Given the description of an element on the screen output the (x, y) to click on. 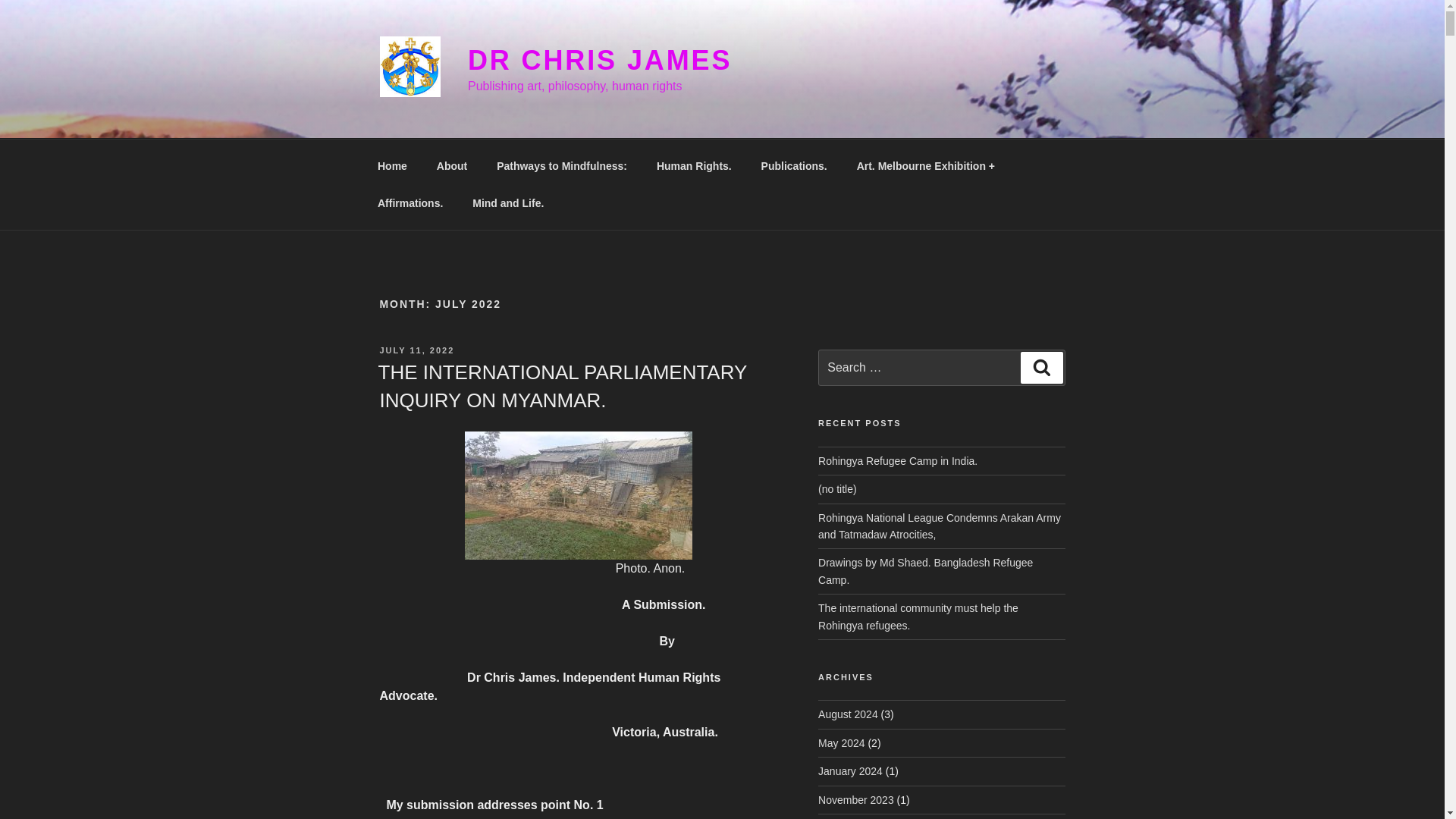
THE INTERNATIONAL PARLIAMENTARY INQUIRY ON MYANMAR. (561, 386)
Affirmations. (409, 203)
JULY 11, 2022 (416, 349)
Mind and Life. (508, 203)
About (451, 165)
Publications. (794, 165)
Human Rights. (693, 165)
Pathways to Mindfulness: (561, 165)
DR CHRIS JAMES (599, 60)
